Given the description of an element on the screen output the (x, y) to click on. 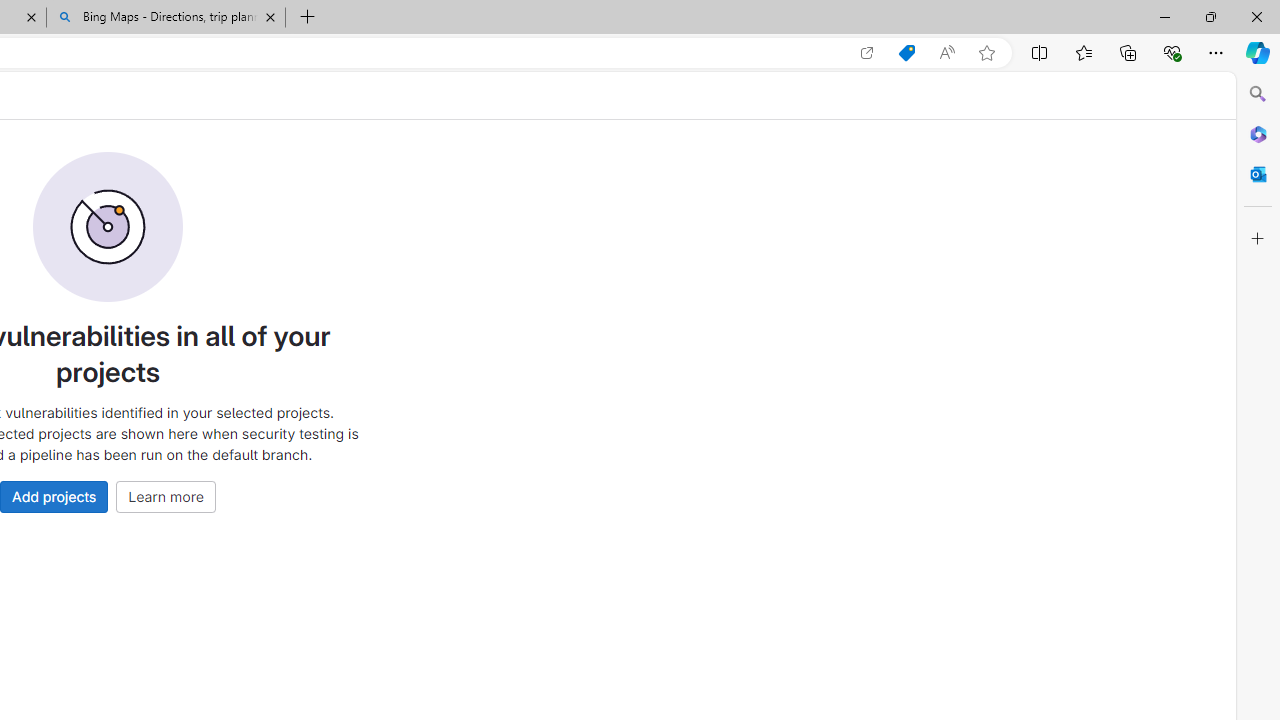
Learn more (166, 496)
Open in app (867, 53)
